Given the description of an element on the screen output the (x, y) to click on. 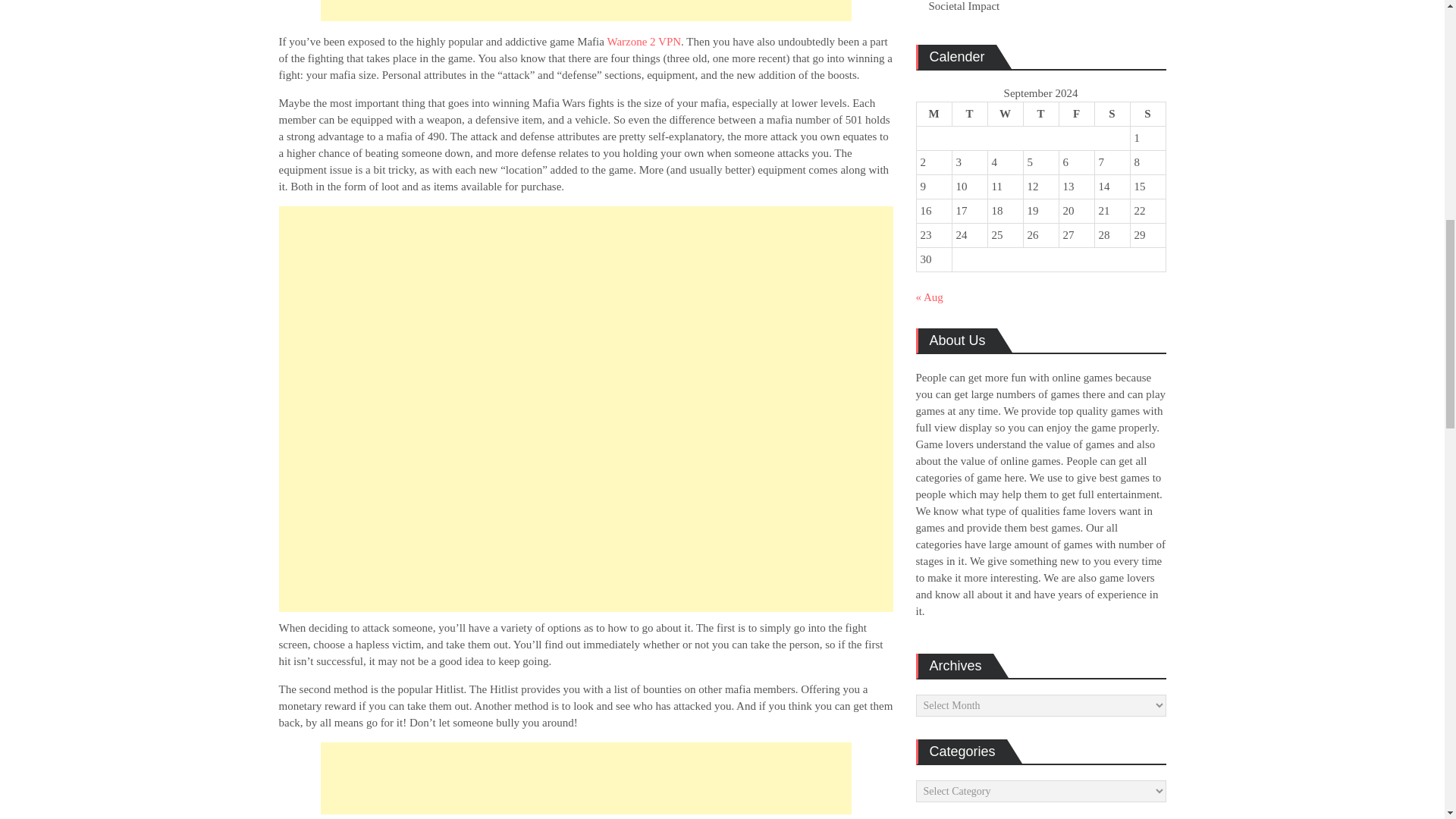
Advertisement (585, 10)
Warzone 2 VPN (644, 41)
Tuesday (969, 114)
Friday (1076, 114)
Wednesday (1005, 114)
Saturday (1111, 114)
Advertisement (585, 778)
Monday (933, 114)
Thursday (1040, 114)
